Given the description of an element on the screen output the (x, y) to click on. 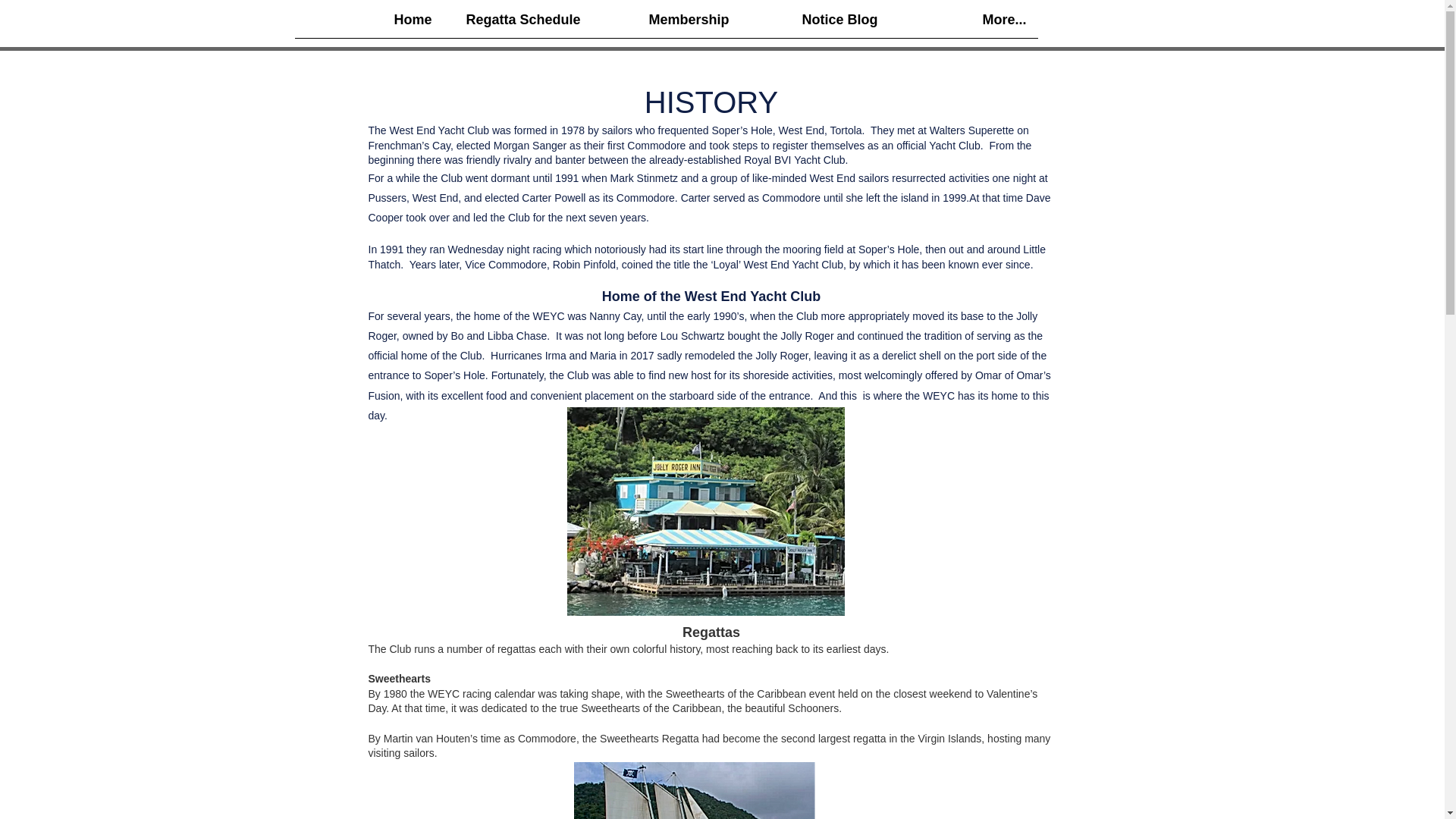
Notice Blog (813, 24)
jolly roger.jpg (705, 511)
Home (368, 24)
weyc pirate flag.png (693, 790)
Membership (665, 24)
